Given the description of an element on the screen output the (x, y) to click on. 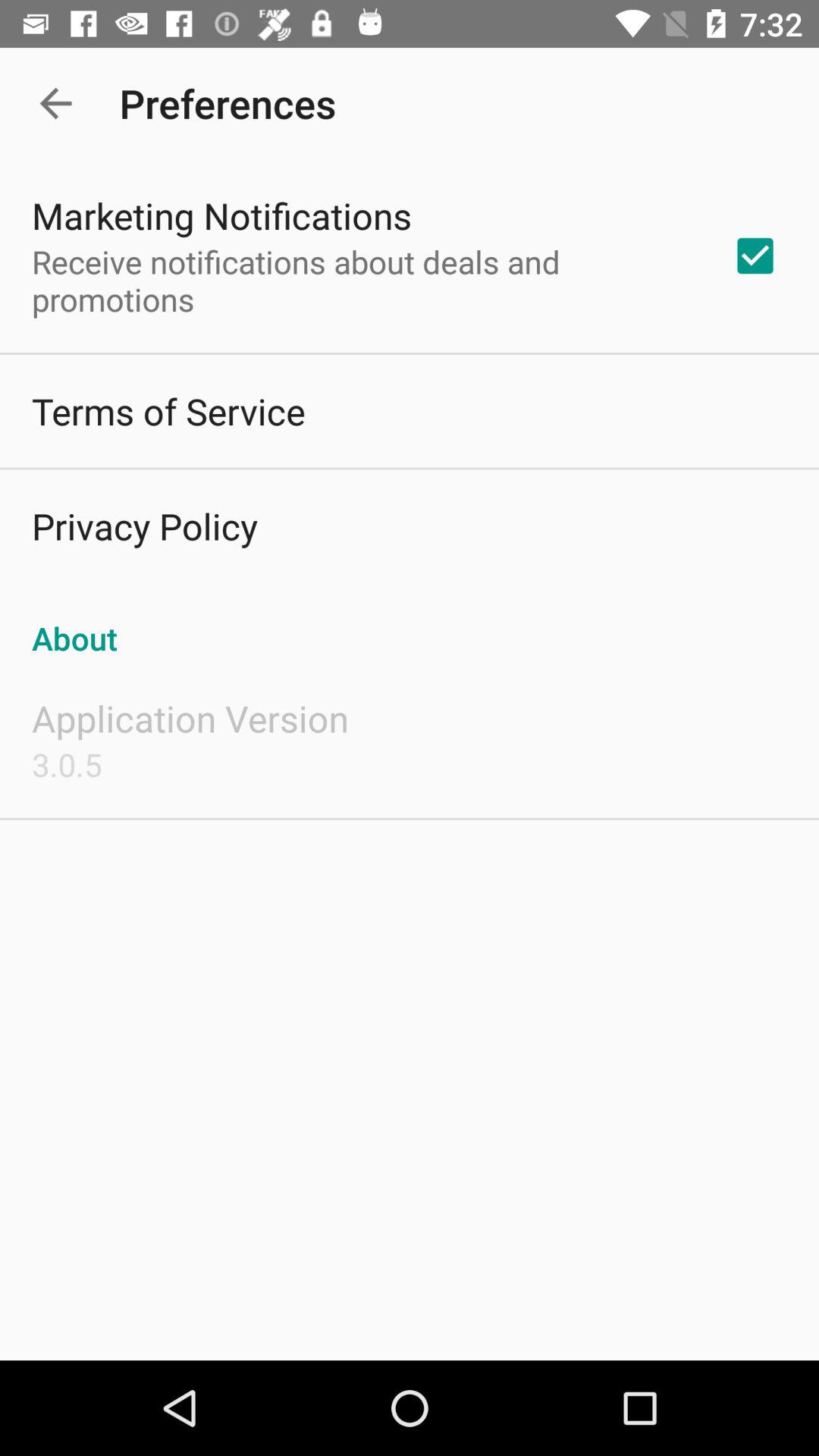
press item next to receive notifications about app (755, 255)
